Given the description of an element on the screen output the (x, y) to click on. 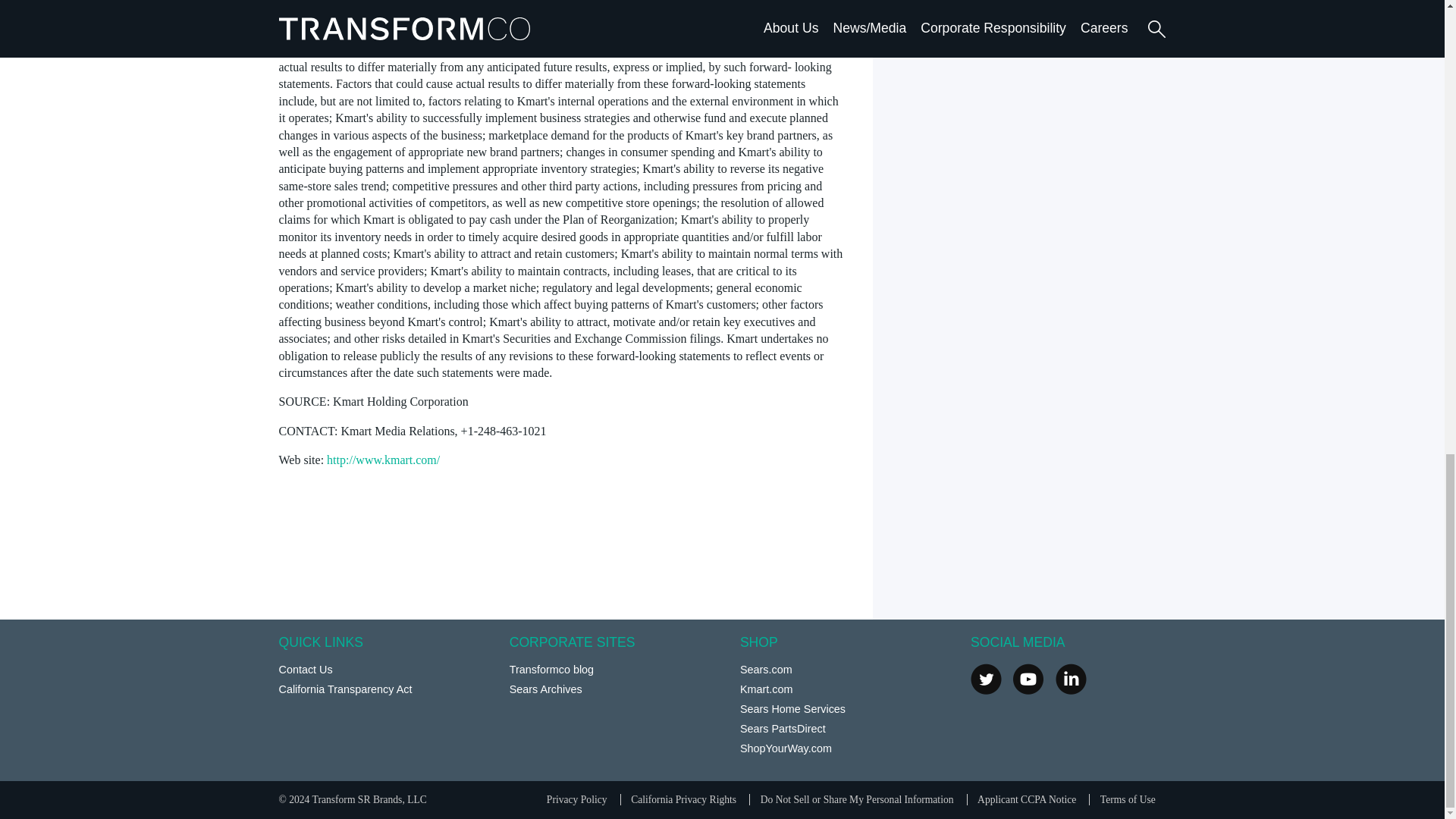
California Privacy Rights (683, 799)
Follow us on YouTube (1028, 678)
Privacy Policy (577, 799)
Follow us on LinkedIn (1070, 678)
Applicant CCPA Notice (1025, 799)
Terms of Use (1128, 799)
Follow us on Twitter (986, 678)
